Given the description of an element on the screen output the (x, y) to click on. 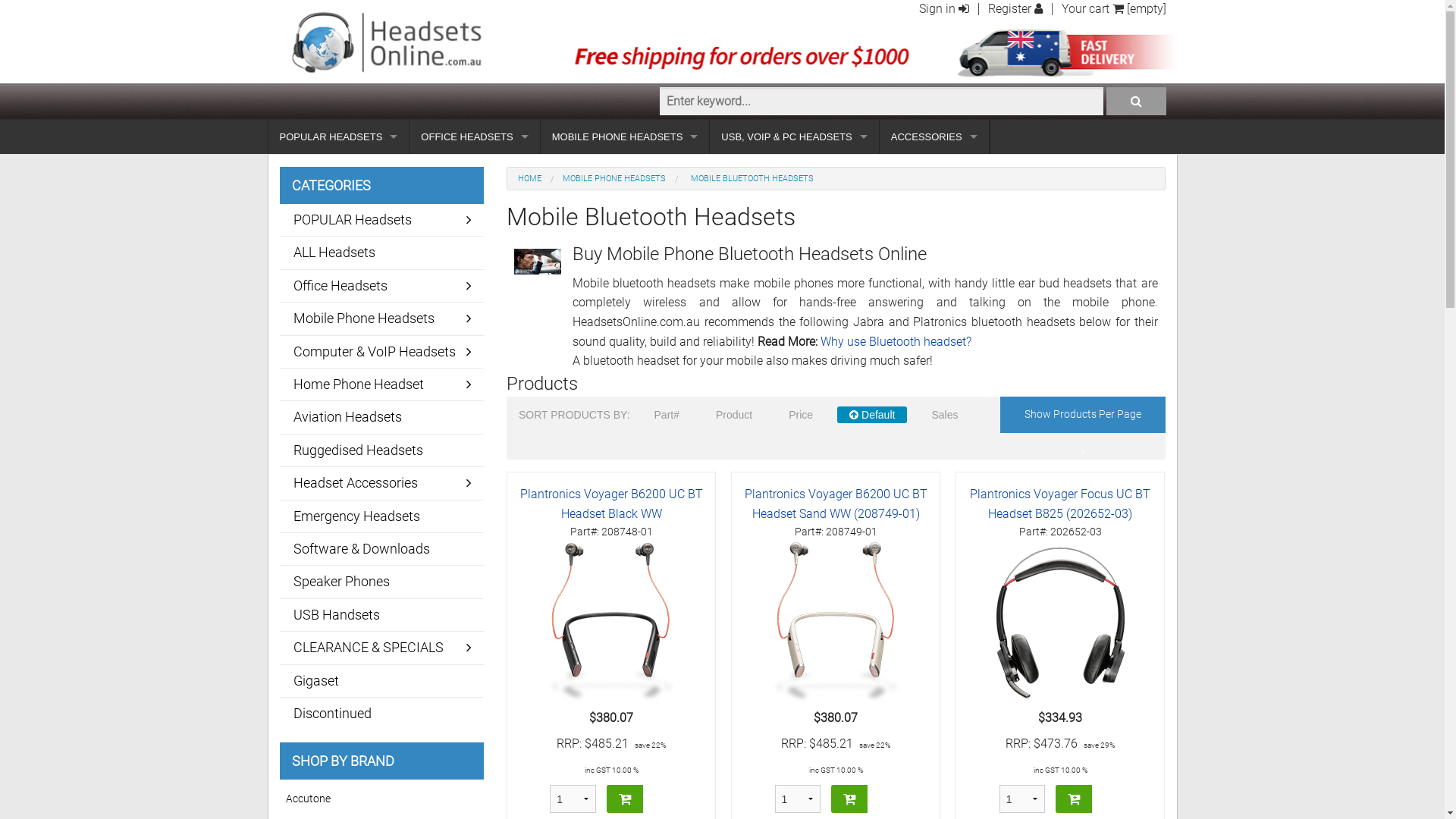
Product Element type: text (733, 414)
Show all USB Element type: text (793, 205)
MOBILE PHONE HEADSETS Element type: text (624, 136)
Speaker Phones Element type: text (381, 581)
Default Element type: text (871, 414)
Sign in Element type: text (944, 9)
HOME Element type: text (529, 178)
Plantronics Accessories Element type: text (933, 205)
Headset Accessories Element type: text (381, 482)
Why use Bluetooth headset? Element type: text (895, 341)
Wireless headsets Element type: text (474, 239)
OFFICE HEADSETS Element type: text (474, 136)
ACCESSORIES Element type: text (933, 136)
Sales Element type: text (944, 414)
Plantronics Voyager B6200 UC BT Headset Sand WW (208749-01) Element type: text (835, 503)
USB Handsets Element type: text (381, 614)
Usb & voip headsets Element type: text (338, 239)
Home Phone Headset Element type: text (381, 384)
POPULAR HEADSETS Element type: text (338, 136)
Gaming headsets Element type: text (793, 375)
Plantronics Voyager B6200 UC BT Headset Sand WW (208749-01) Element type: hover (835, 622)
Mobile Phone Headsets Element type: text (381, 318)
Polaris Accessories Element type: text (933, 239)
Register Element type: text (1014, 9)
Computer & VoIP Headsets Element type: text (381, 351)
Your cart [empty] Element type: text (1113, 9)
Unified Communication Headsets Element type: text (474, 205)
USB, VOIP & PC HEADSETS Element type: text (793, 136)
Show all Element type: text (474, 170)
Specials Element type: text (624, 239)
Brands Element type: text (624, 273)
Dragon Headsets Element type: text (474, 307)
Brands Element type: text (793, 409)
Part# Element type: text (666, 414)
Software & Downloads Element type: text (381, 548)
Corded headsets Element type: text (474, 273)
Aviation Headsets Element type: text (381, 417)
Plantronics Voyager Focus UC BT Headset B825 (202652-03) Element type: hover (1060, 622)
Wireless headsets Element type: text (338, 170)
Specials Element type: text (793, 273)
Ruggedised Headsets Element type: text (381, 450)
ALL Headsets Element type: text (381, 252)
Corded headsets Element type: text (338, 205)
Show all Element type: text (624, 170)
Discontinued Element type: text (381, 713)
Bluetooth headsets Element type: text (338, 273)
Unified Communication Headsets Element type: text (793, 170)
Plantronics Voyager B6200 UC BT Headset Black WW Element type: text (611, 503)
Plantronics Voyager Focus UC BT Headset B825 (202652-03) Element type: text (1059, 503)
Corded USB Element type: text (793, 307)
Accutone Element type: text (382, 798)
Most popular Element type: text (624, 205)
Jabra Accessories Element type: text (933, 170)
POPULAR Headsets Element type: text (381, 219)
Office Headsets Element type: text (381, 285)
Most popular Element type: text (793, 239)
Gigaset Element type: text (381, 680)
Wireless USB Element type: text (793, 341)
Sennheiser Accessories Element type: text (933, 273)
Price Element type: text (800, 414)
CLEARANCE & SPECIALS Element type: text (381, 647)
Emergency Headsets Element type: text (381, 516)
MOBILE PHONE HEADSETS Element type: text (613, 178)
Plantronics Voyager B6200 UC BT Headset Black WW Element type: hover (611, 622)
